Given the description of an element on the screen output the (x, y) to click on. 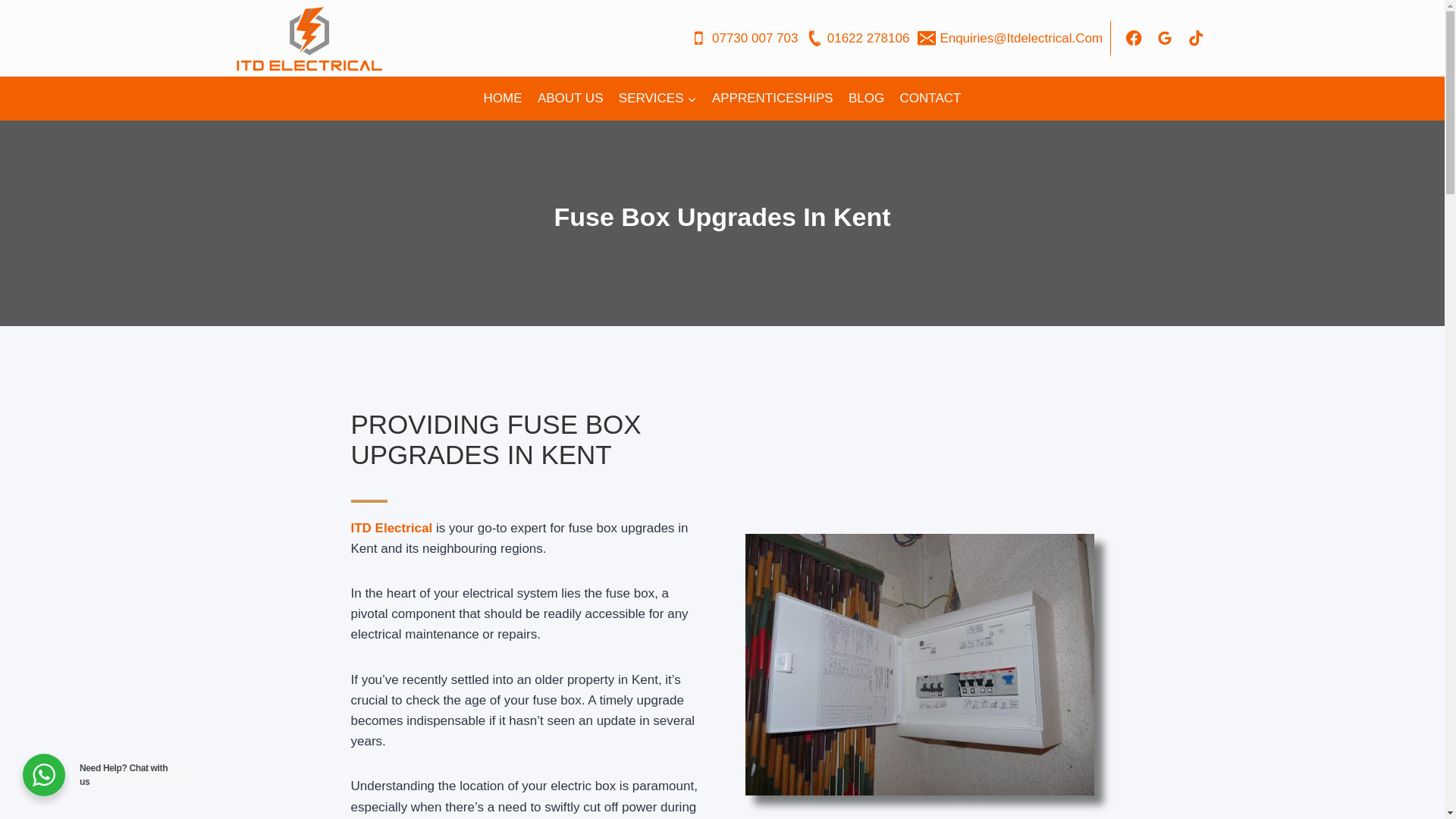
HOME (502, 98)
CONTACT (929, 98)
SERVICES (657, 98)
ITD Electrical (391, 527)
07730 007 703 (742, 37)
BLOG (866, 98)
ABOUT US (570, 98)
APPRENTICESHIPS (772, 98)
01622 278106 (858, 37)
